Given the description of an element on the screen output the (x, y) to click on. 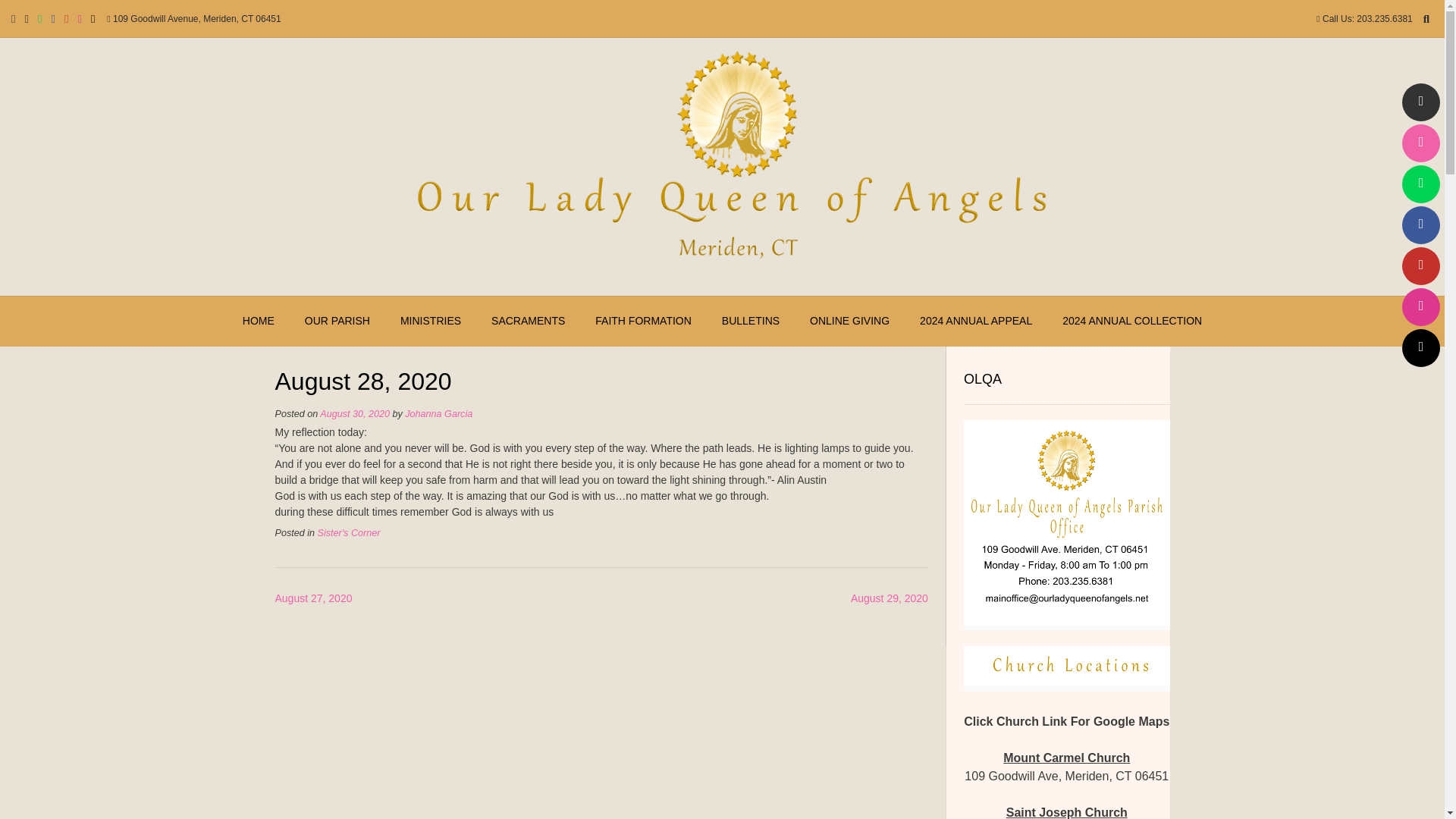
Find Us on Facebook (1420, 225)
Contact Us on Whatsapp (1420, 184)
OUR PARISH (337, 321)
HOME (258, 321)
MINISTRIES (430, 321)
Follow Us on Instagram (1420, 306)
Send Us an Email (1420, 102)
Call Us (1420, 143)
View our YouTube Channel (1420, 266)
